Given the description of an element on the screen output the (x, y) to click on. 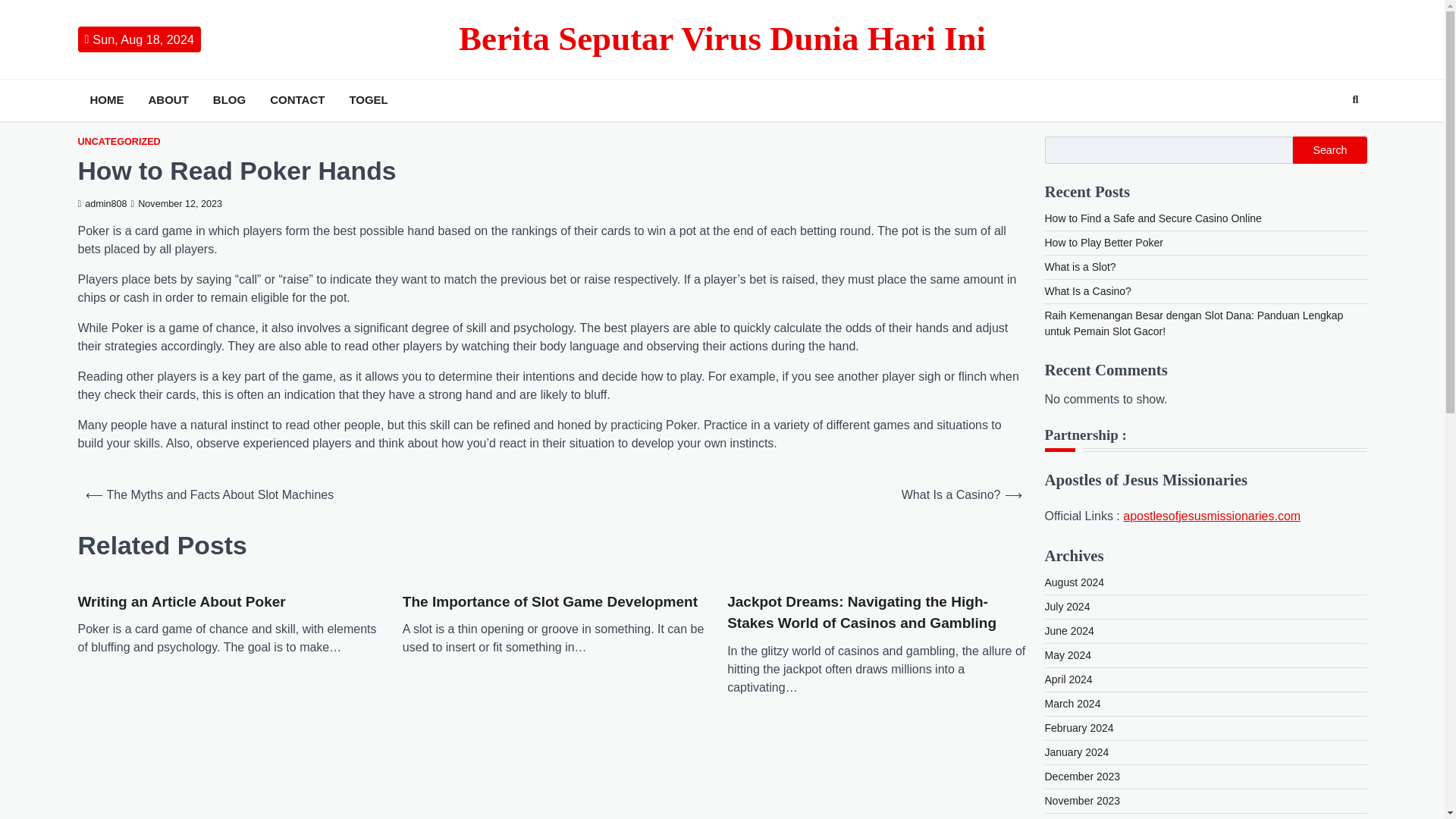
HOME (105, 99)
TOGEL (367, 99)
Writing an Article About Poker (181, 602)
August 2024 (1075, 582)
February 2024 (1079, 727)
Search (1355, 99)
April 2024 (1069, 679)
November 2023 (1083, 800)
The Importance of Slot Game Development (550, 602)
What Is a Casino? (1088, 291)
